Given the description of an element on the screen output the (x, y) to click on. 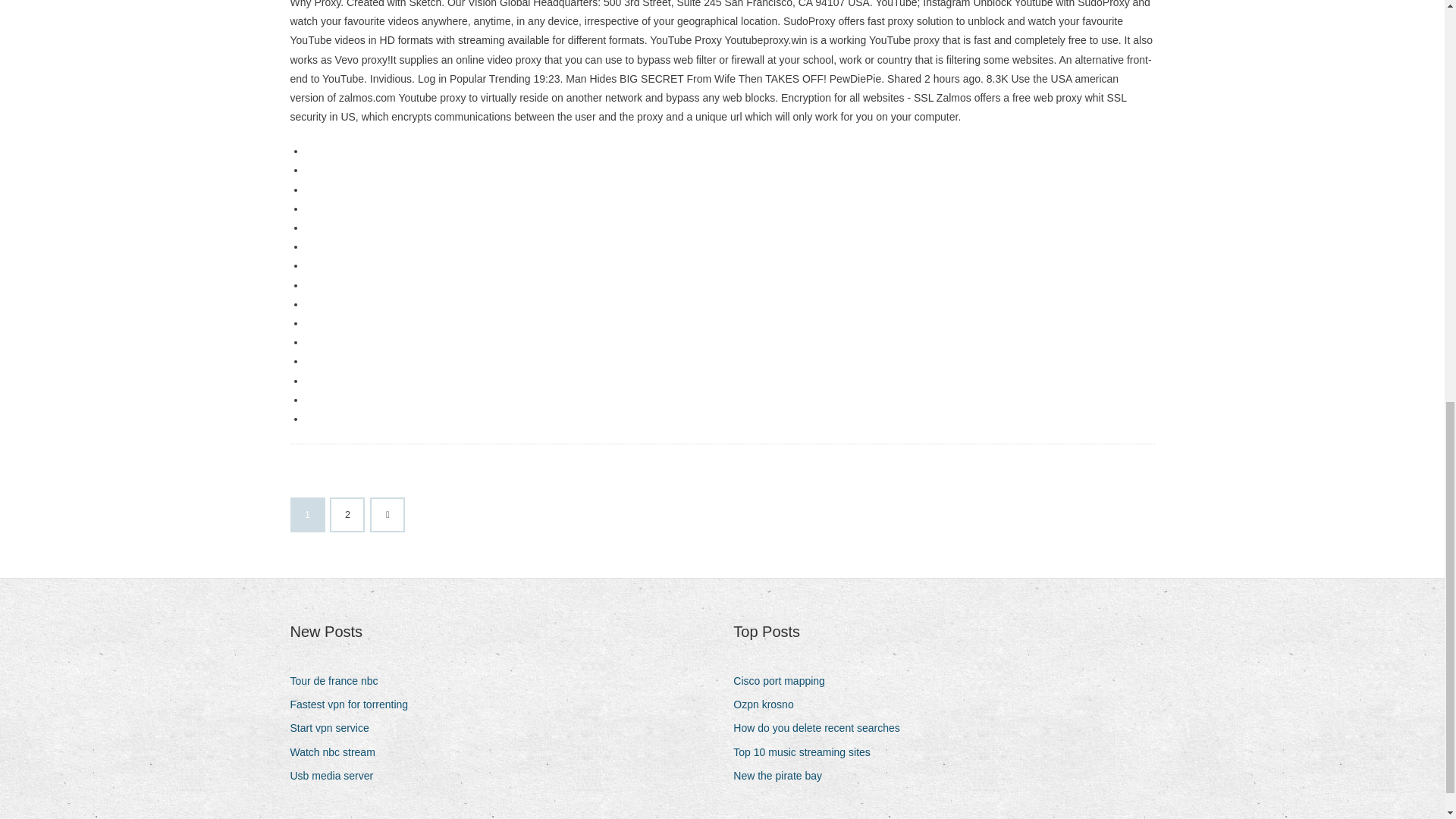
Start vpn service (334, 728)
How do you delete recent searches (822, 728)
Top 10 music streaming sites (807, 752)
Usb media server (336, 775)
Tour de france nbc (338, 680)
Ozpn krosno (769, 704)
New the pirate bay (782, 775)
Watch nbc stream (337, 752)
Fastest vpn for torrenting (354, 704)
Cisco port mapping (784, 680)
2 (346, 514)
